Given the description of an element on the screen output the (x, y) to click on. 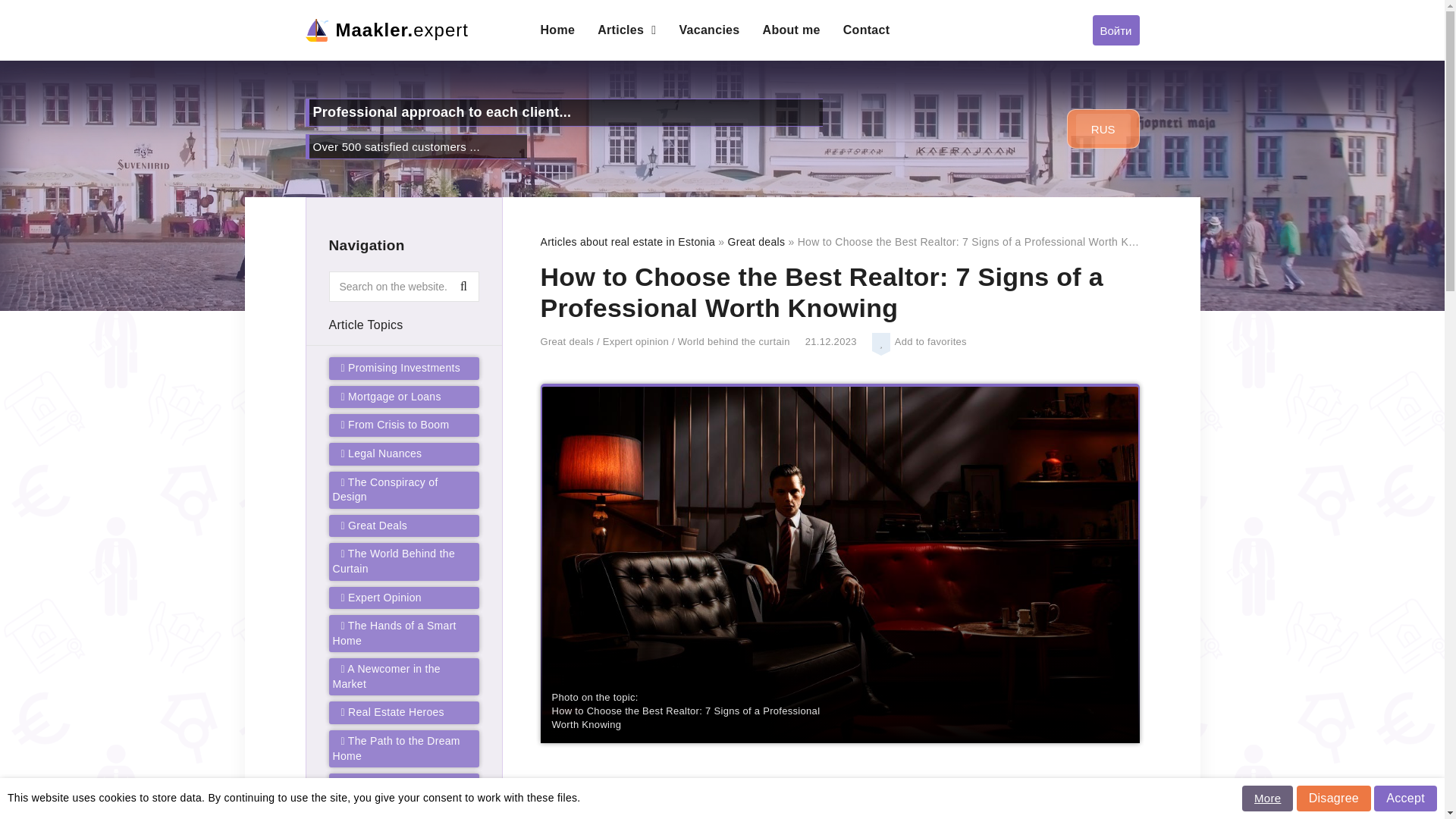
Articles about real estate in Estonia (627, 241)
Add to favorites (883, 343)
The World Behind the Curtain (392, 560)
Maakler.expert (410, 30)
Mortgage or Loans (390, 396)
The Conspiracy of Design (384, 489)
Promising Investments (400, 367)
Vacancies (708, 30)
Expert Opinion (381, 597)
RUS (1103, 128)
